Given the description of an element on the screen output the (x, y) to click on. 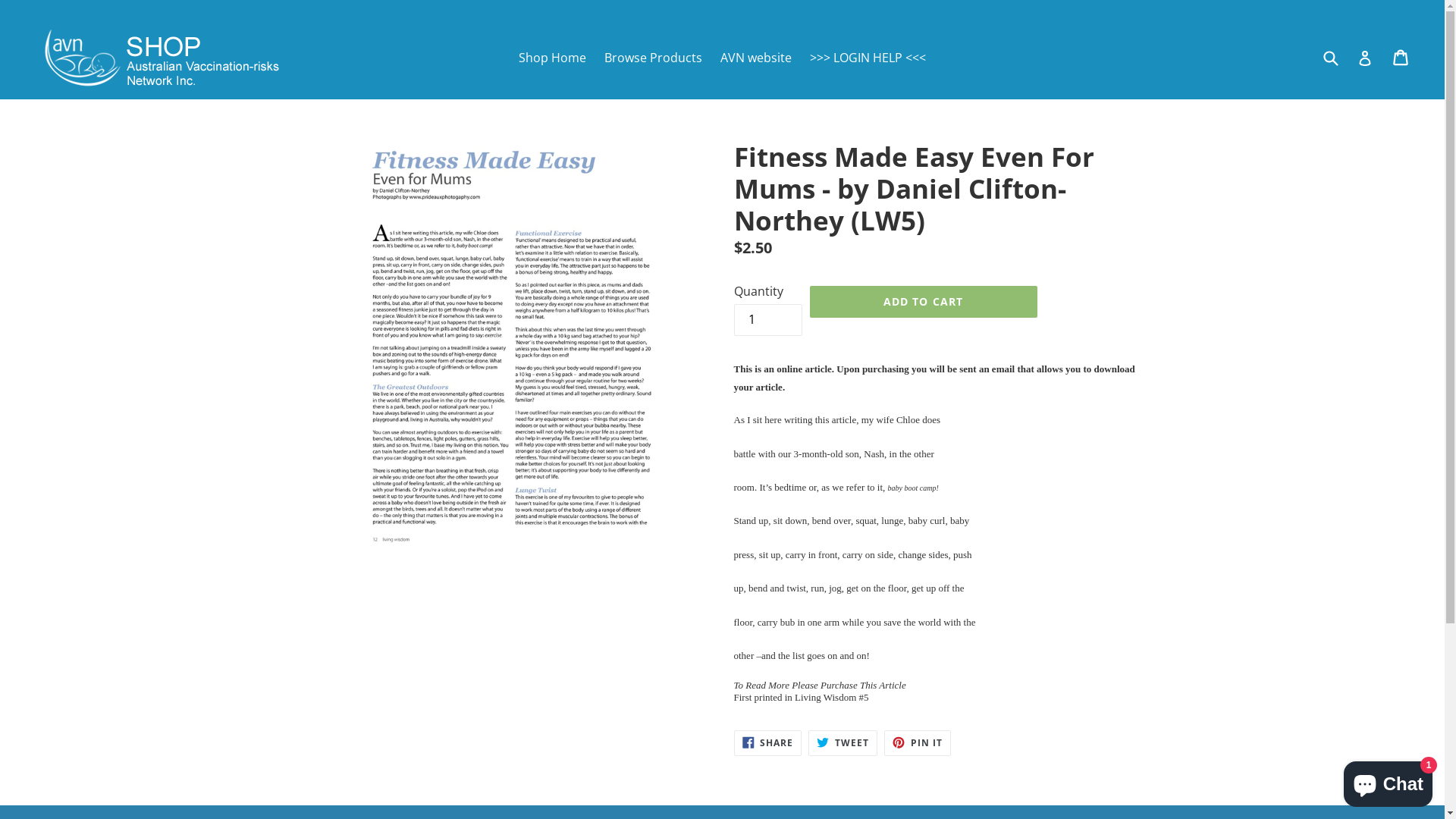
PIN IT
PIN ON PINTEREST Element type: text (917, 742)
Shopify online store chat Element type: hover (1388, 780)
TWEET
TWEET ON TWITTER Element type: text (842, 742)
Shop Home Element type: text (552, 56)
Submit Element type: text (1329, 56)
AVN website Element type: text (755, 56)
Log in Element type: text (1364, 57)
ADD TO CART Element type: text (923, 301)
SHARE
SHARE ON FACEBOOK Element type: text (768, 742)
Browse Products Element type: text (652, 56)
Cart
Cart Element type: text (1401, 56)
>>> LOGIN HELP <<< Element type: text (867, 56)
